Given the description of an element on the screen output the (x, y) to click on. 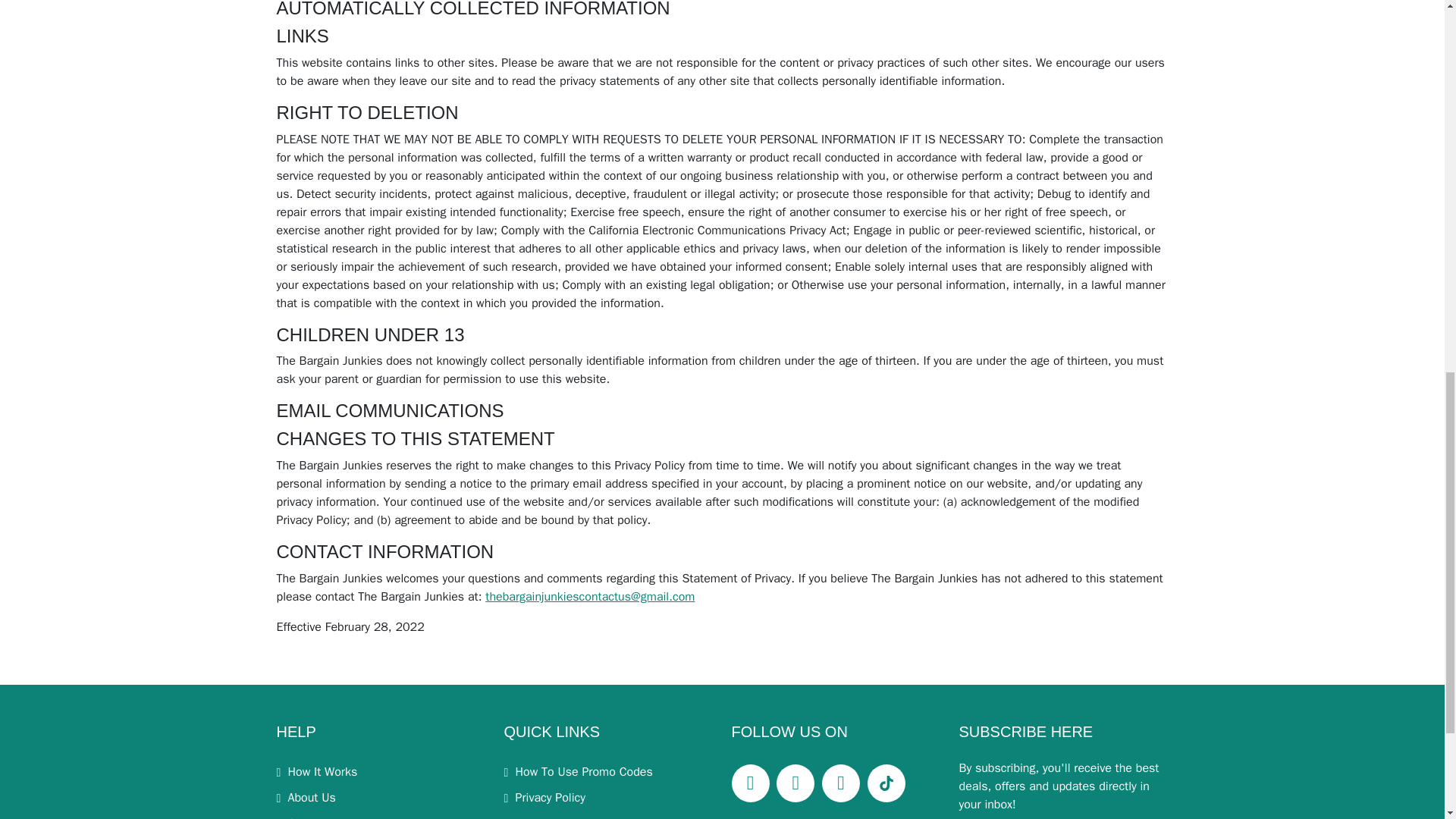
About Us (305, 797)
How It Works (316, 771)
How To Use Promo Codes (577, 771)
Privacy Policy (544, 797)
Contact Us (311, 817)
